Given the description of an element on the screen output the (x, y) to click on. 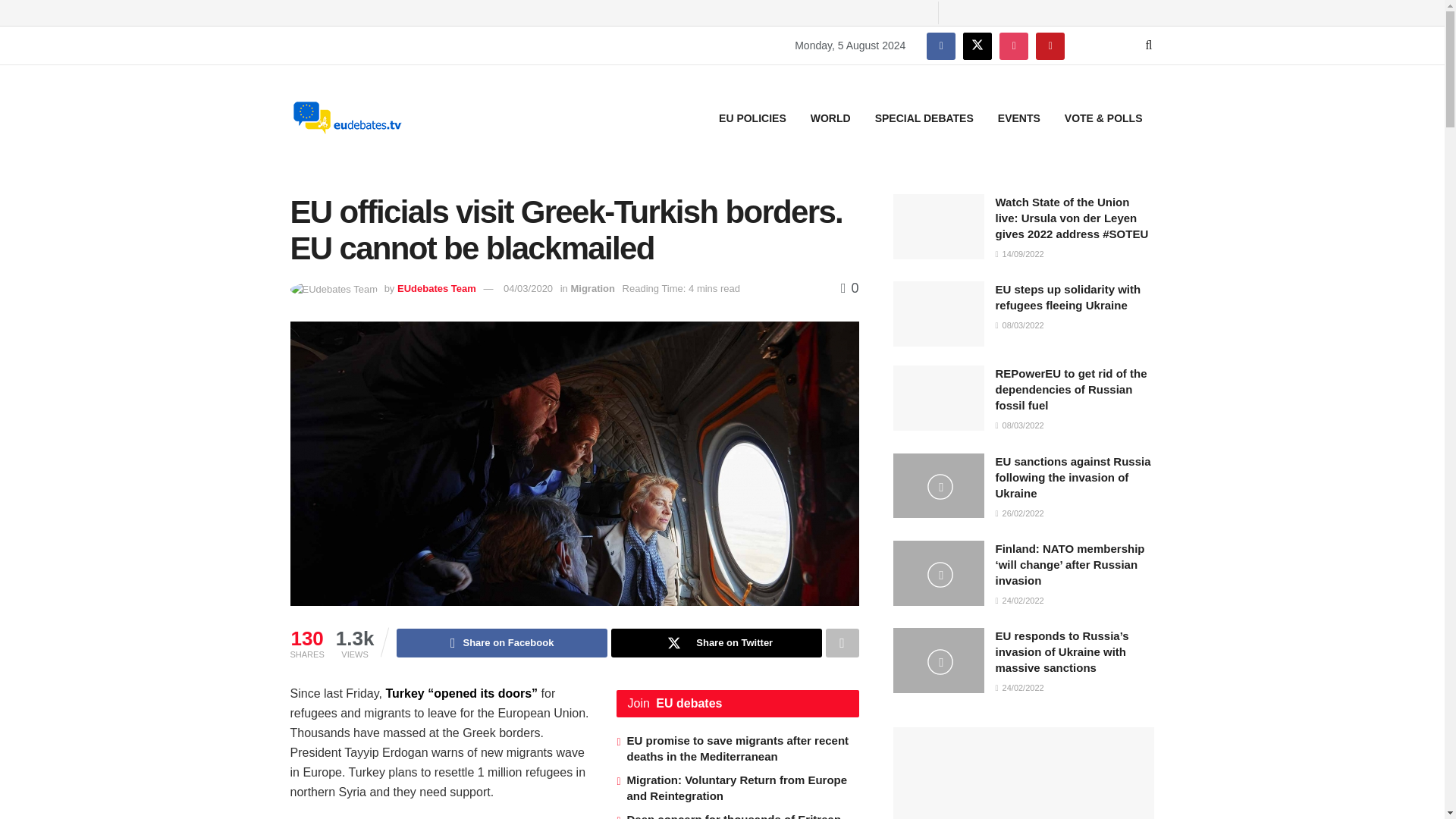
EU Policies (751, 118)
EUdebates Team (436, 288)
Share on Twitter (716, 642)
EVENTS (1018, 118)
Migration: Voluntary Return from Europe and Reintegration (736, 787)
Special Debates (924, 118)
SPECIAL DEBATES (924, 118)
EU POLICIES (751, 118)
Migration (592, 288)
WORLD (830, 118)
0 (850, 287)
World Debates (830, 118)
Events (1018, 118)
Deep concern for thousands of Eritrean refugees in Ethiopia (733, 816)
